Given the description of an element on the screen output the (x, y) to click on. 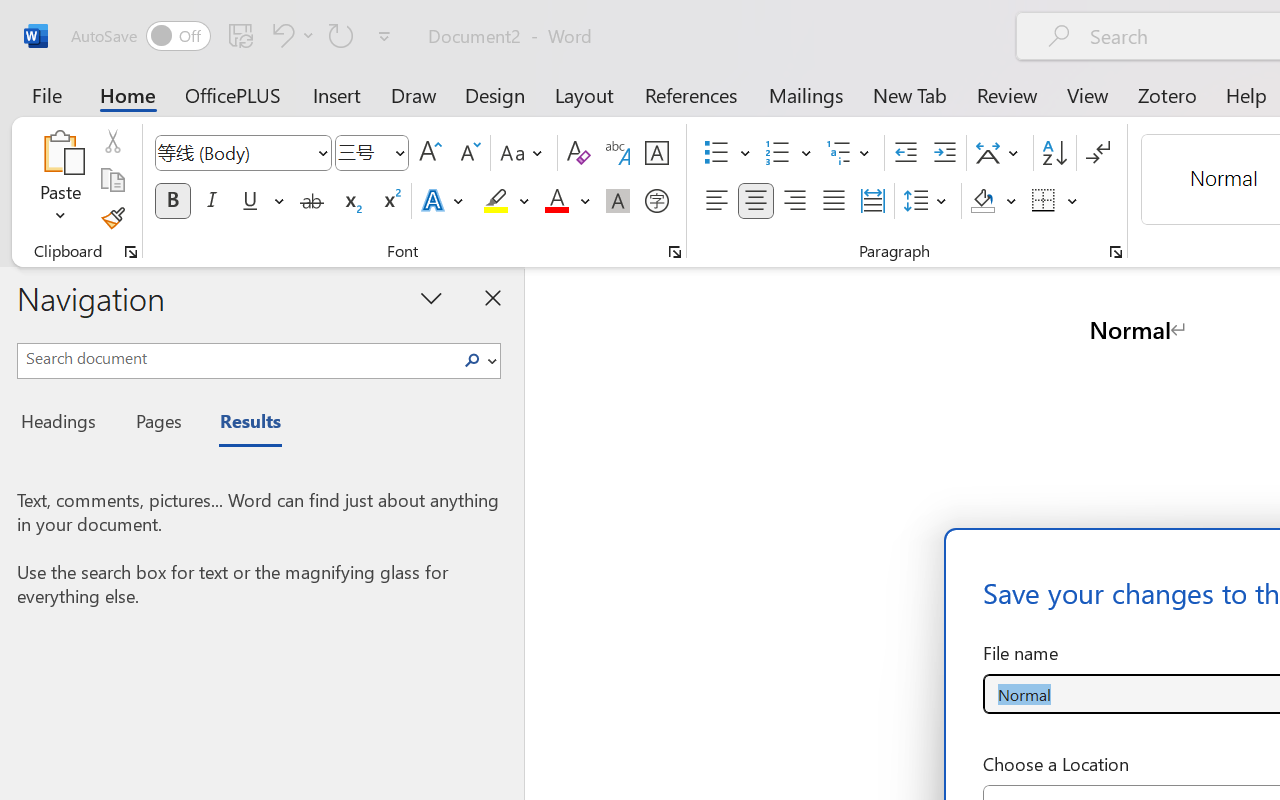
Character Shading (618, 201)
Enclose Characters... (656, 201)
Subscript (350, 201)
Numbering (788, 153)
Headings (64, 424)
Search (471, 360)
Strikethrough (312, 201)
Customize Quick Access Toolbar (384, 35)
Borders (1044, 201)
Shading (993, 201)
Bold (172, 201)
Mailings (806, 94)
Change Case (524, 153)
Save (241, 35)
